Given the description of an element on the screen output the (x, y) to click on. 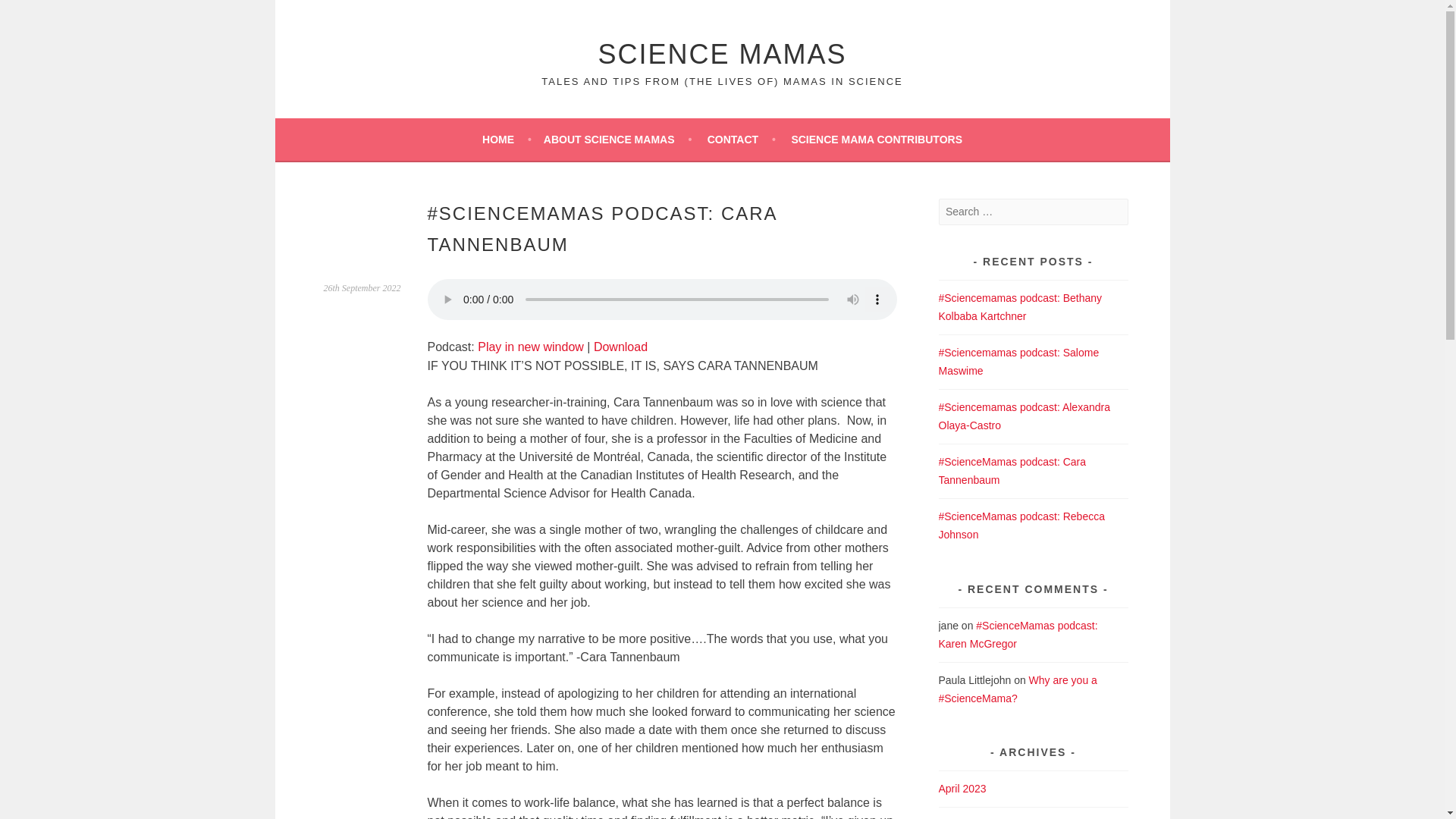
Search (30, 13)
April 2023 (963, 788)
Download (620, 346)
CONTACT (741, 139)
ABOUT SCIENCE MAMAS (617, 139)
Science Mamas (720, 53)
SCIENCE MAMAS (720, 53)
Download (620, 346)
HOME (506, 139)
Play in new window (530, 346)
SCIENCE MAMA CONTRIBUTORS (876, 139)
26th September 2022 (362, 287)
Play in new window (530, 346)
